Given the description of an element on the screen output the (x, y) to click on. 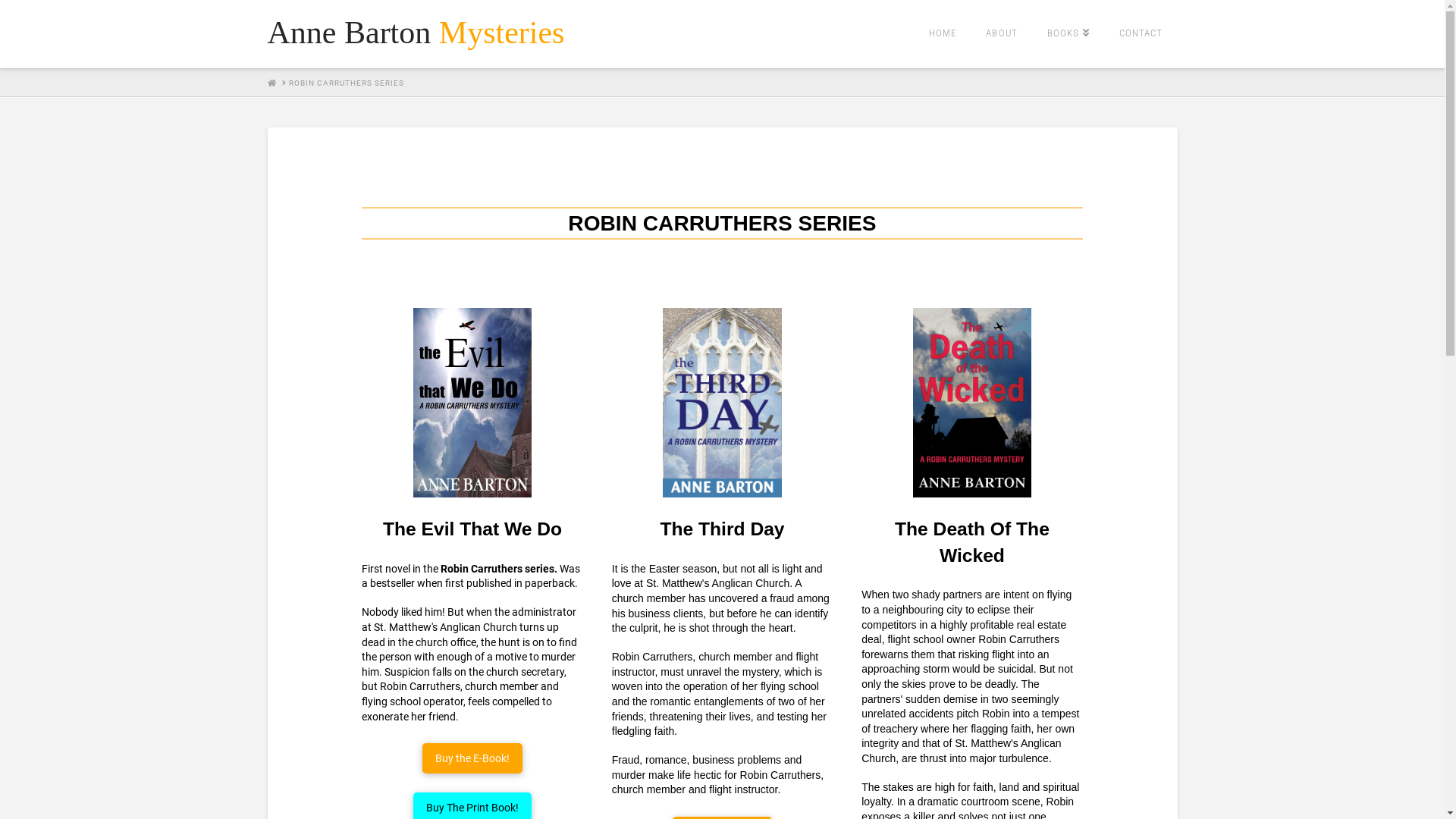
Buy the E-Book! Element type: text (472, 758)
HOME Element type: text (271, 82)
Anne Barton Mysteries Element type: text (415, 32)
HOME Element type: text (941, 34)
BOOKS Element type: text (1068, 34)
ROBIN CARRUTHERS SERIES Element type: text (345, 82)
ABOUT Element type: text (1000, 34)
CONTACT Element type: text (1140, 34)
